Given the description of an element on the screen output the (x, y) to click on. 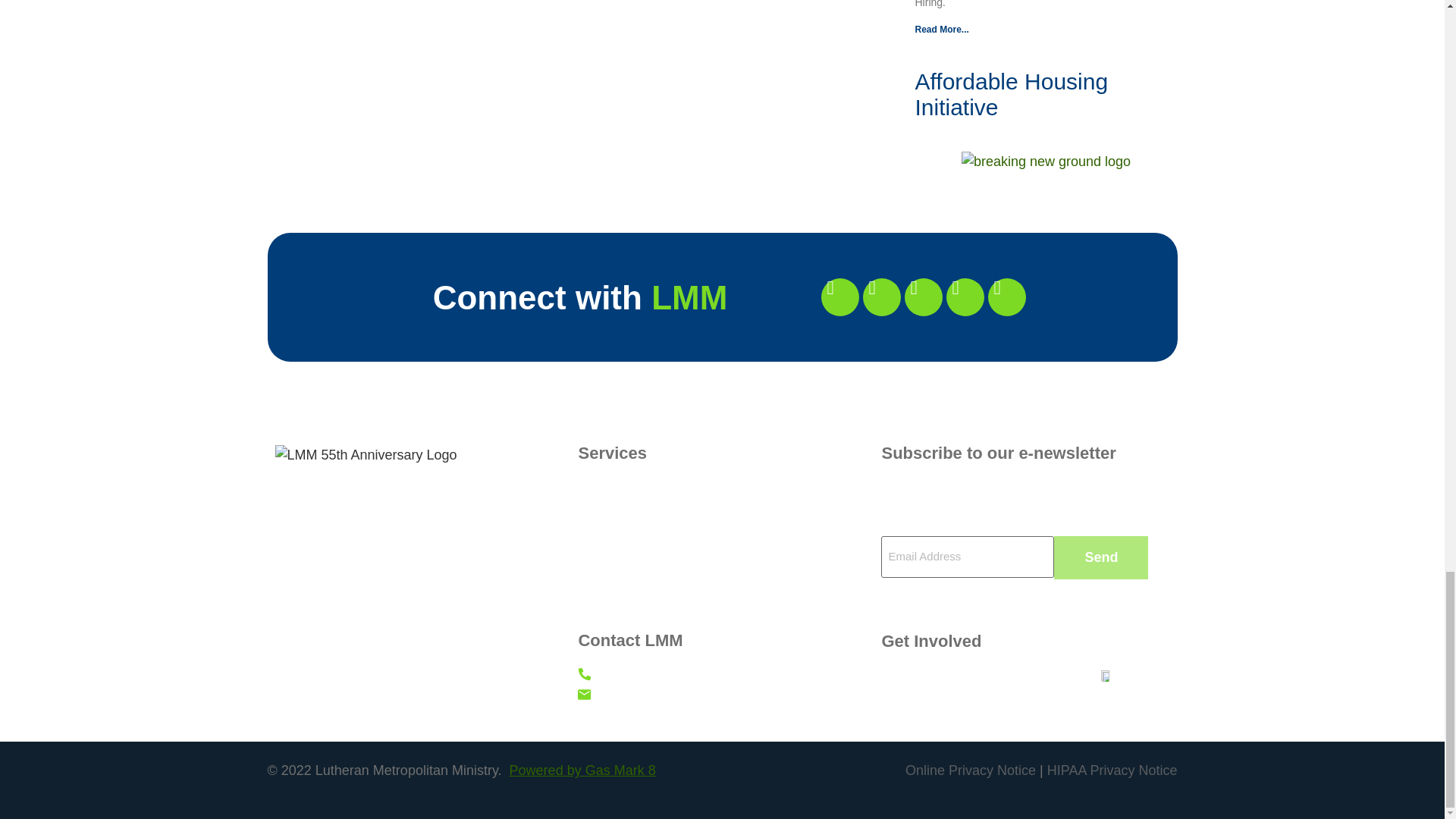
Send (1101, 557)
breaking-new-ground-logo (1045, 161)
